Given the description of an element on the screen output the (x, y) to click on. 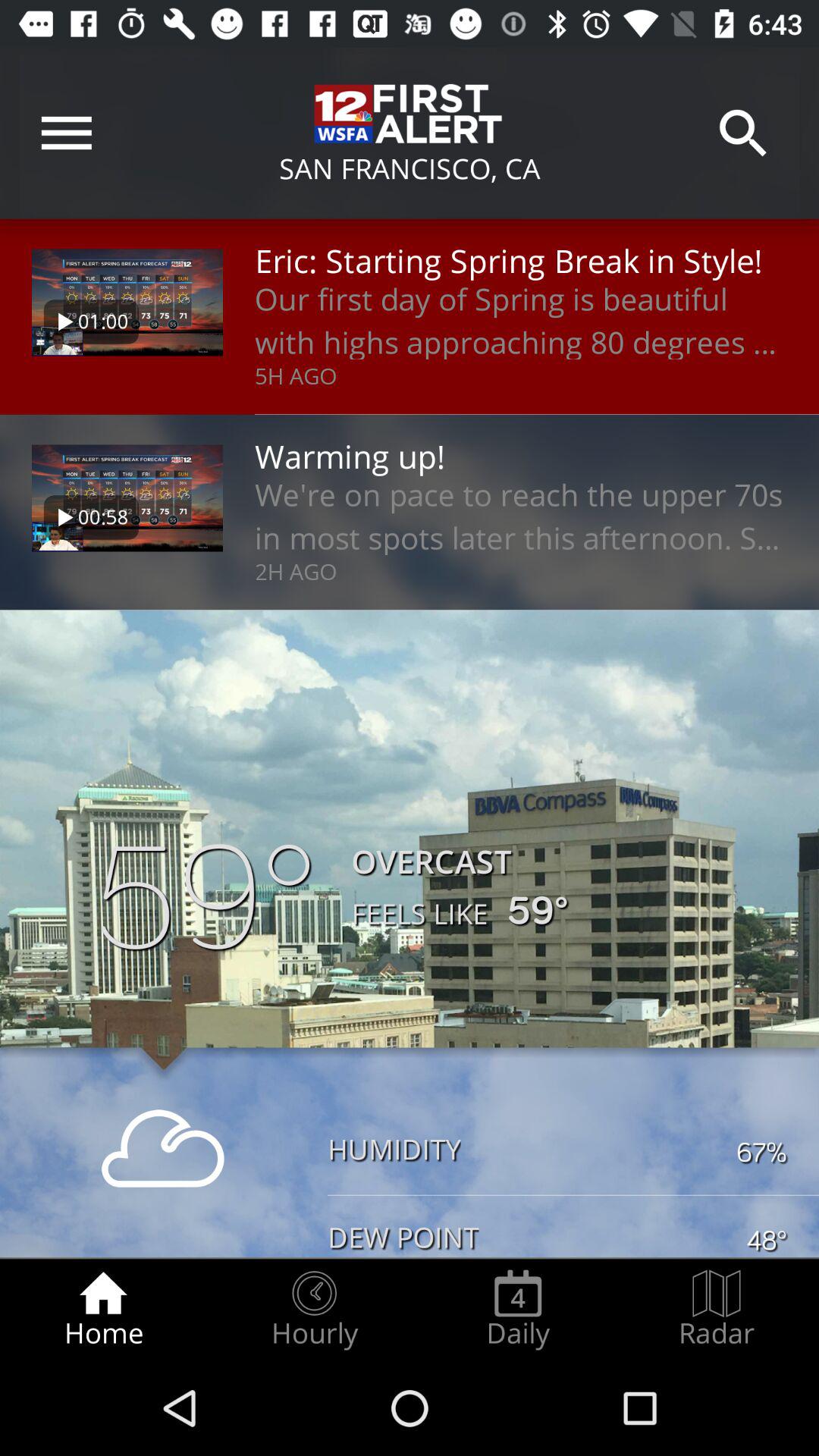
click the icon next to the daily (314, 1309)
